Given the description of an element on the screen output the (x, y) to click on. 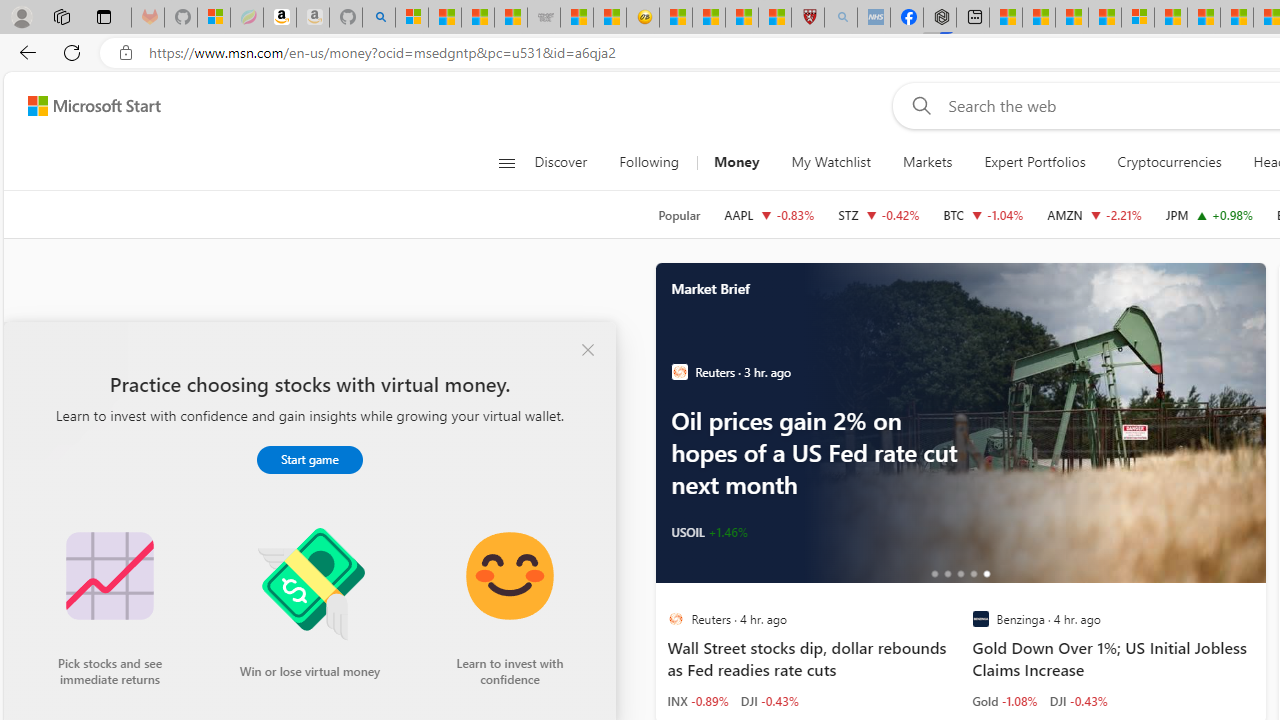
close popup (588, 349)
Nordace - Nordace Siena Is Not An Ordinary Backpack (940, 17)
View site information (125, 53)
